Given the description of an element on the screen output the (x, y) to click on. 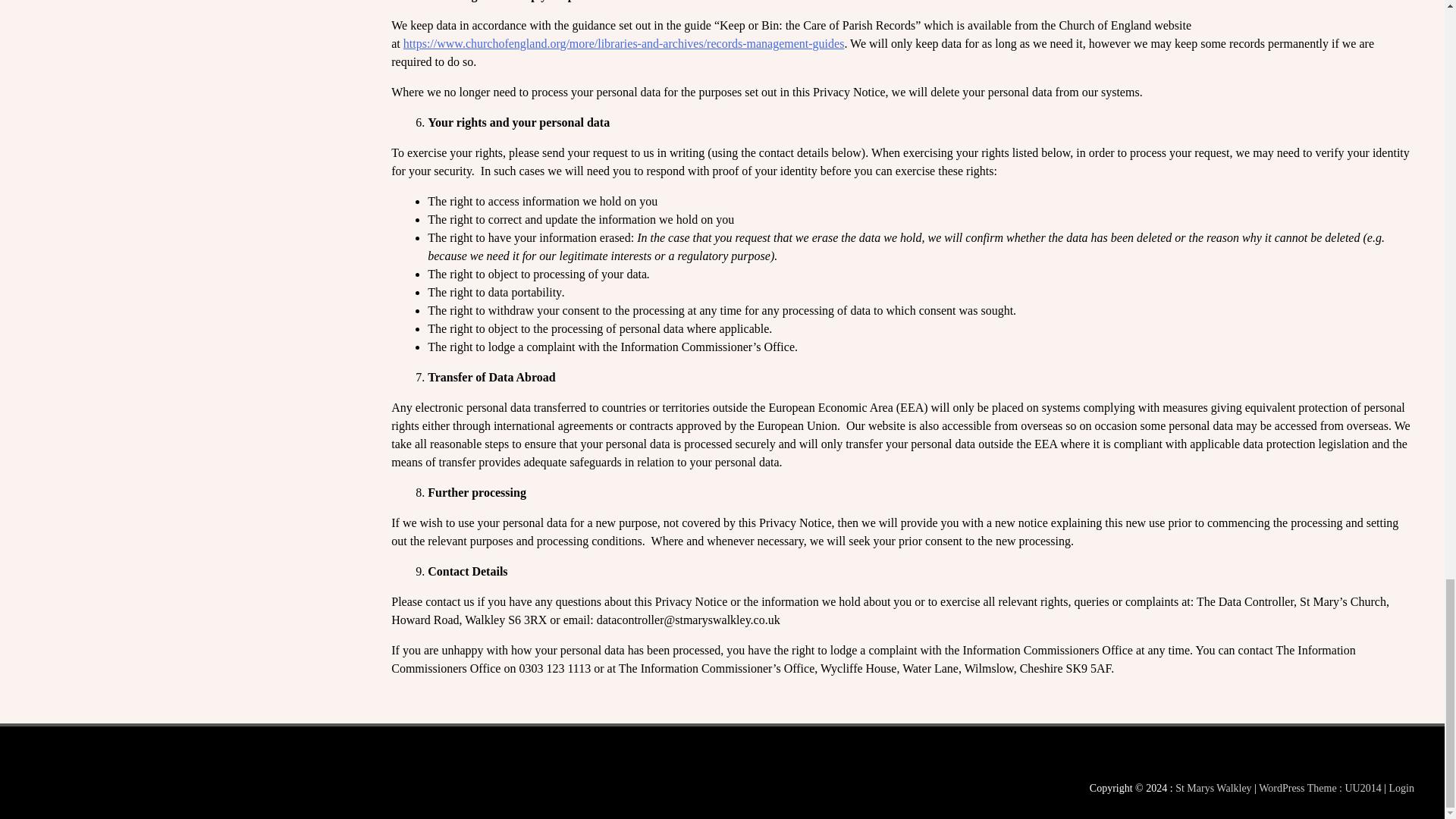
St Marys Walkley (1213, 787)
Login (1401, 787)
WordPress Theme : UU2014 (1320, 787)
Login (1401, 787)
